Given the description of an element on the screen output the (x, y) to click on. 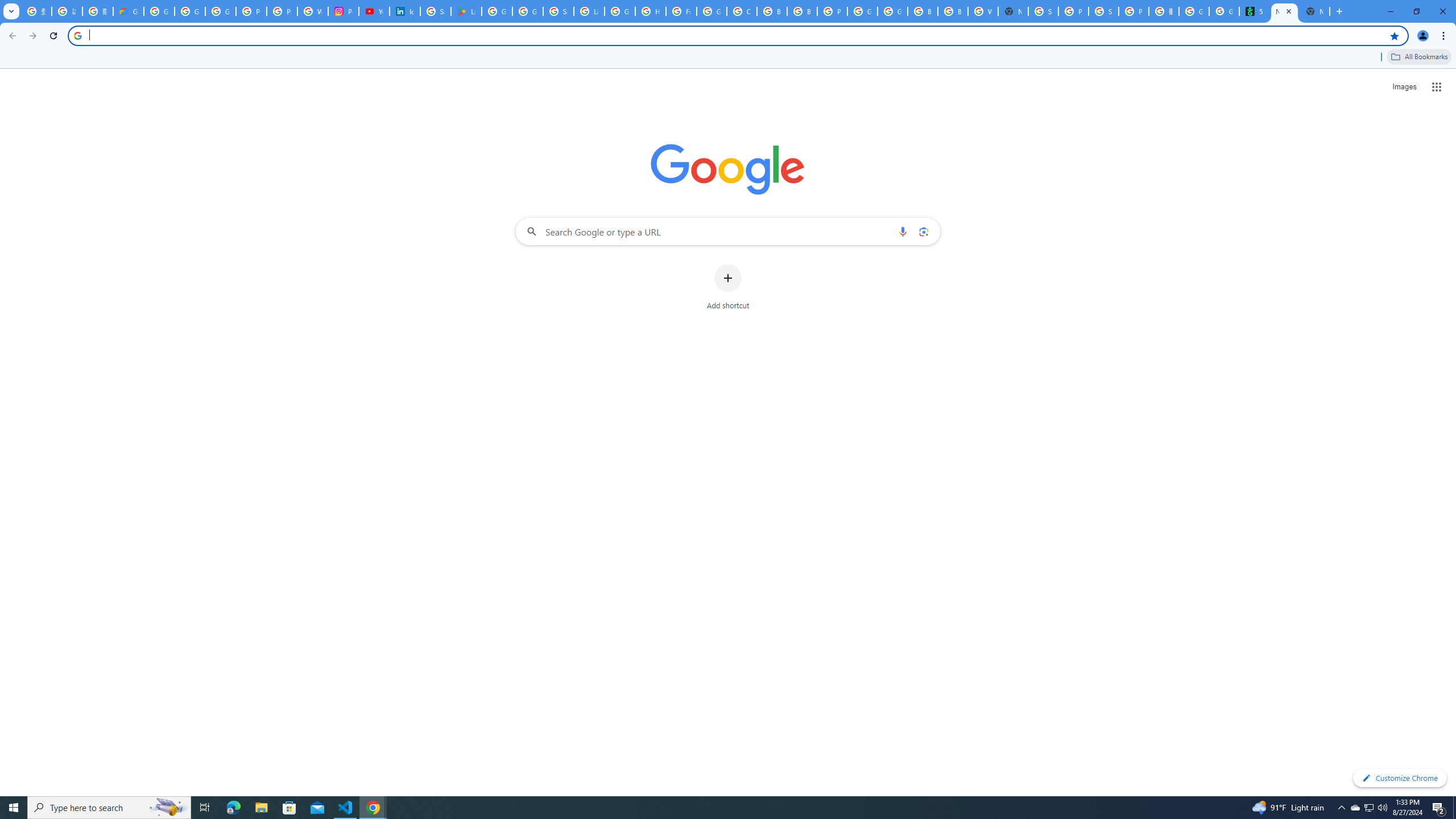
Search icon (77, 35)
Browse Chrome as a guest - Computer - Google Chrome Help (952, 11)
Search Google or type a URL (727, 230)
New Tab (1012, 11)
